Given the description of an element on the screen output the (x, y) to click on. 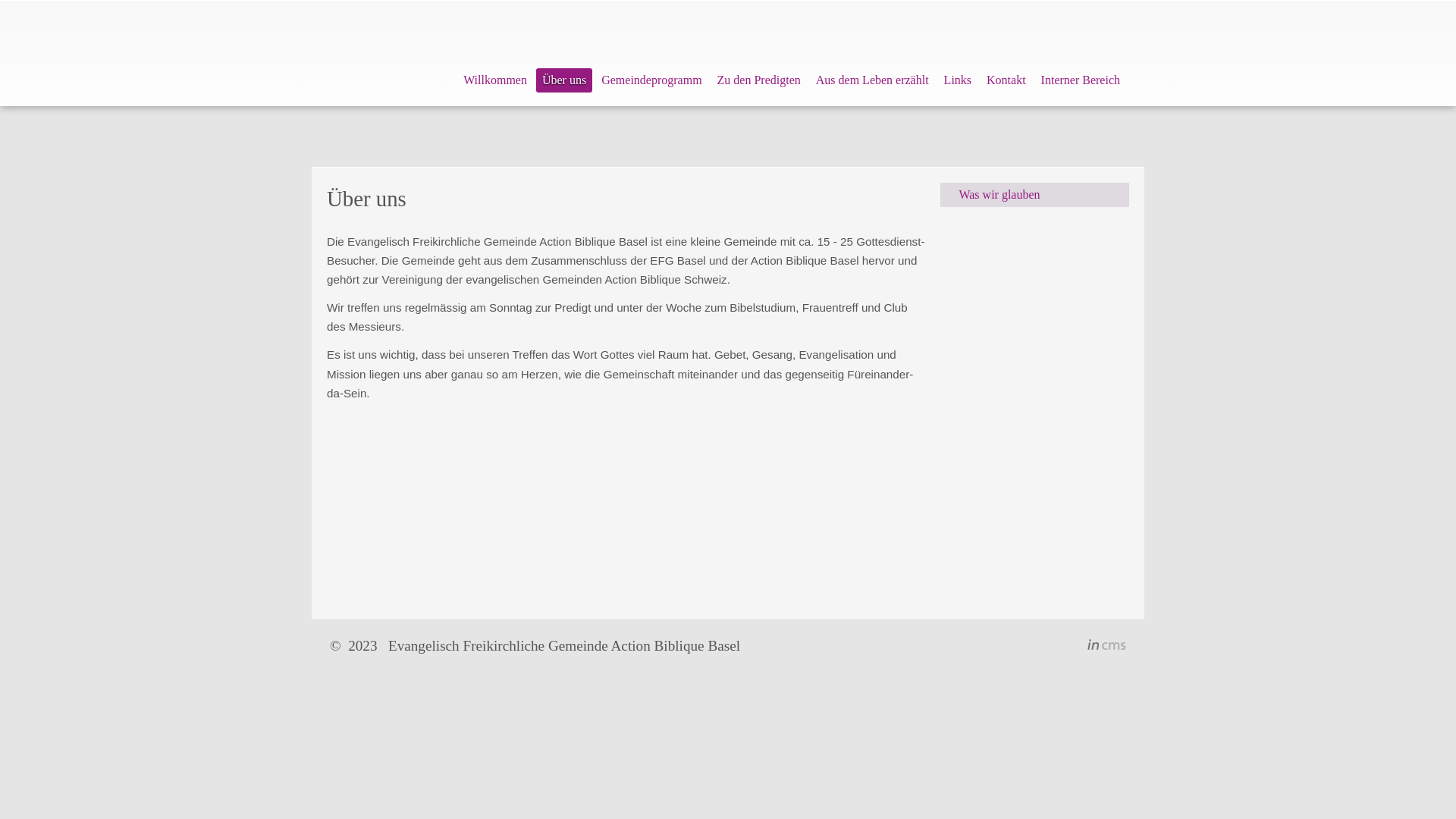
Links Element type: text (957, 80)
Willkommen Element type: text (495, 80)
Interner Bereich Element type: text (1080, 80)
Gemeindeprogramm Element type: text (651, 80)
Kontakt Element type: text (1006, 80)
Was wir glauben Element type: text (1034, 194)
Zu den Predigten Element type: text (758, 80)
